Given the description of an element on the screen output the (x, y) to click on. 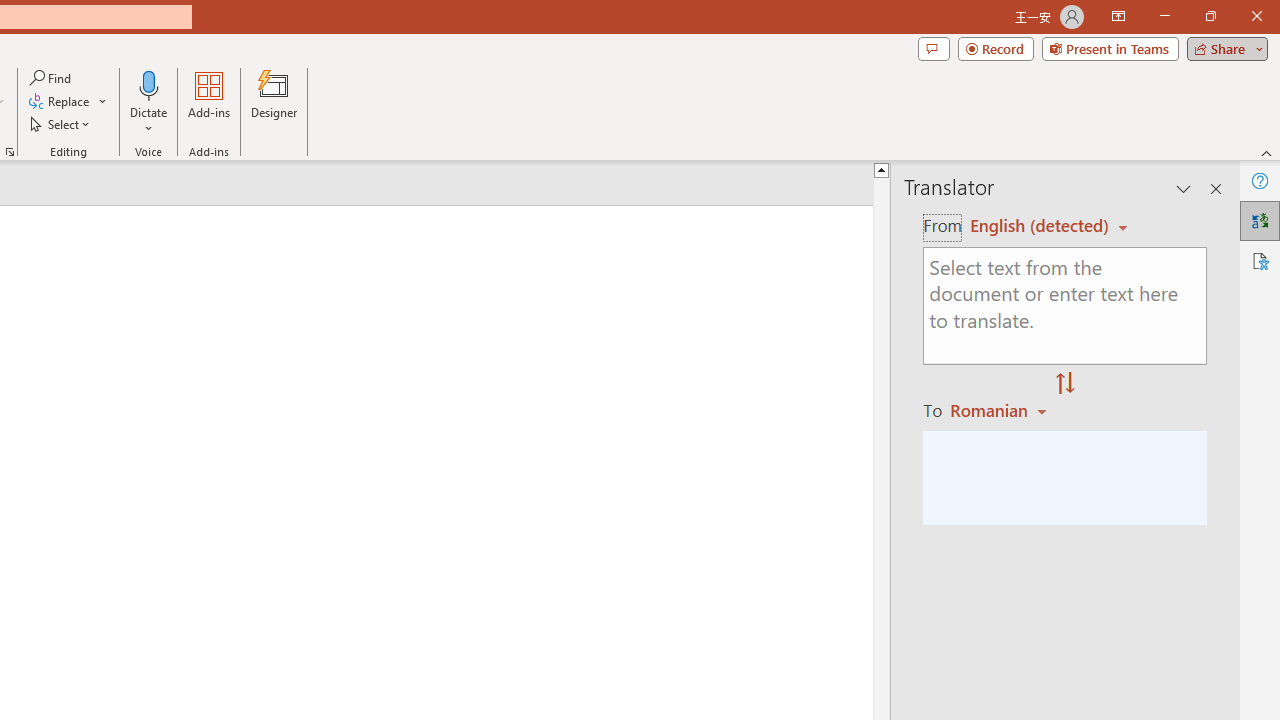
Romanian (1001, 409)
Czech (detected) (1039, 225)
